Given the description of an element on the screen output the (x, y) to click on. 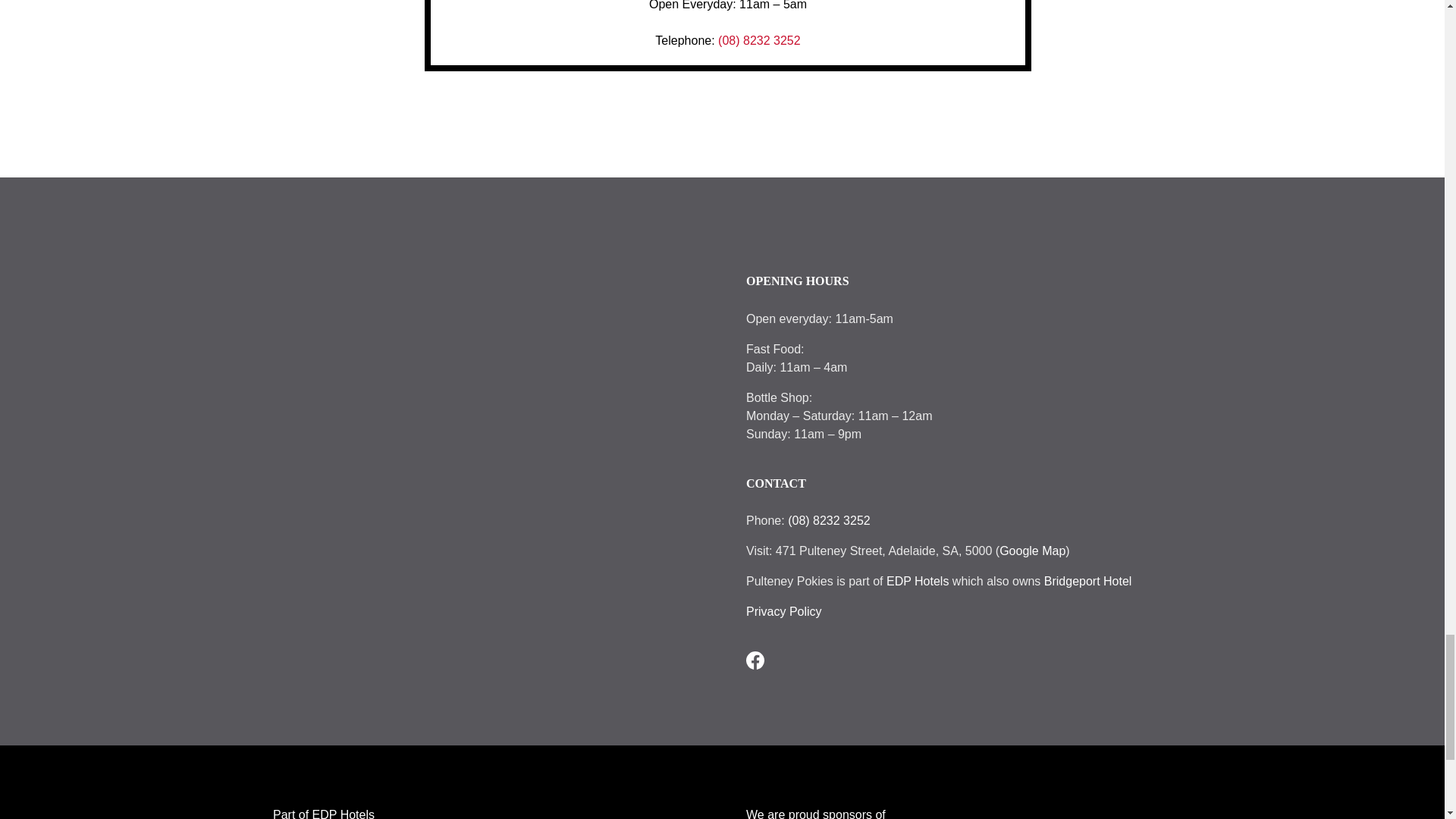
Google Map (1031, 550)
Bridgeport Hotel (1087, 581)
EDP Hotels (917, 581)
